Given the description of an element on the screen output the (x, y) to click on. 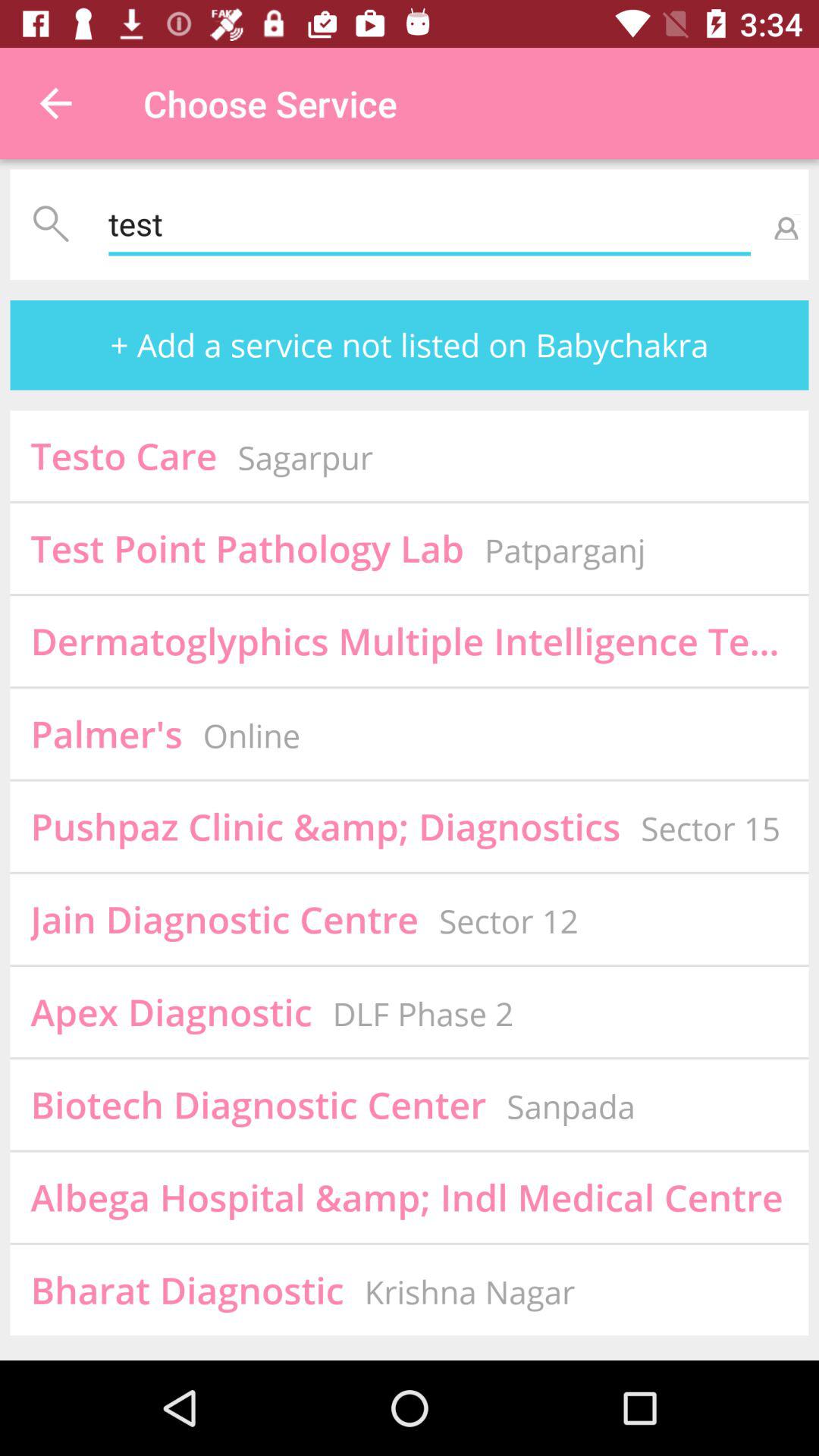
choose item below the albega hospital amp icon (469, 1291)
